Given the description of an element on the screen output the (x, y) to click on. 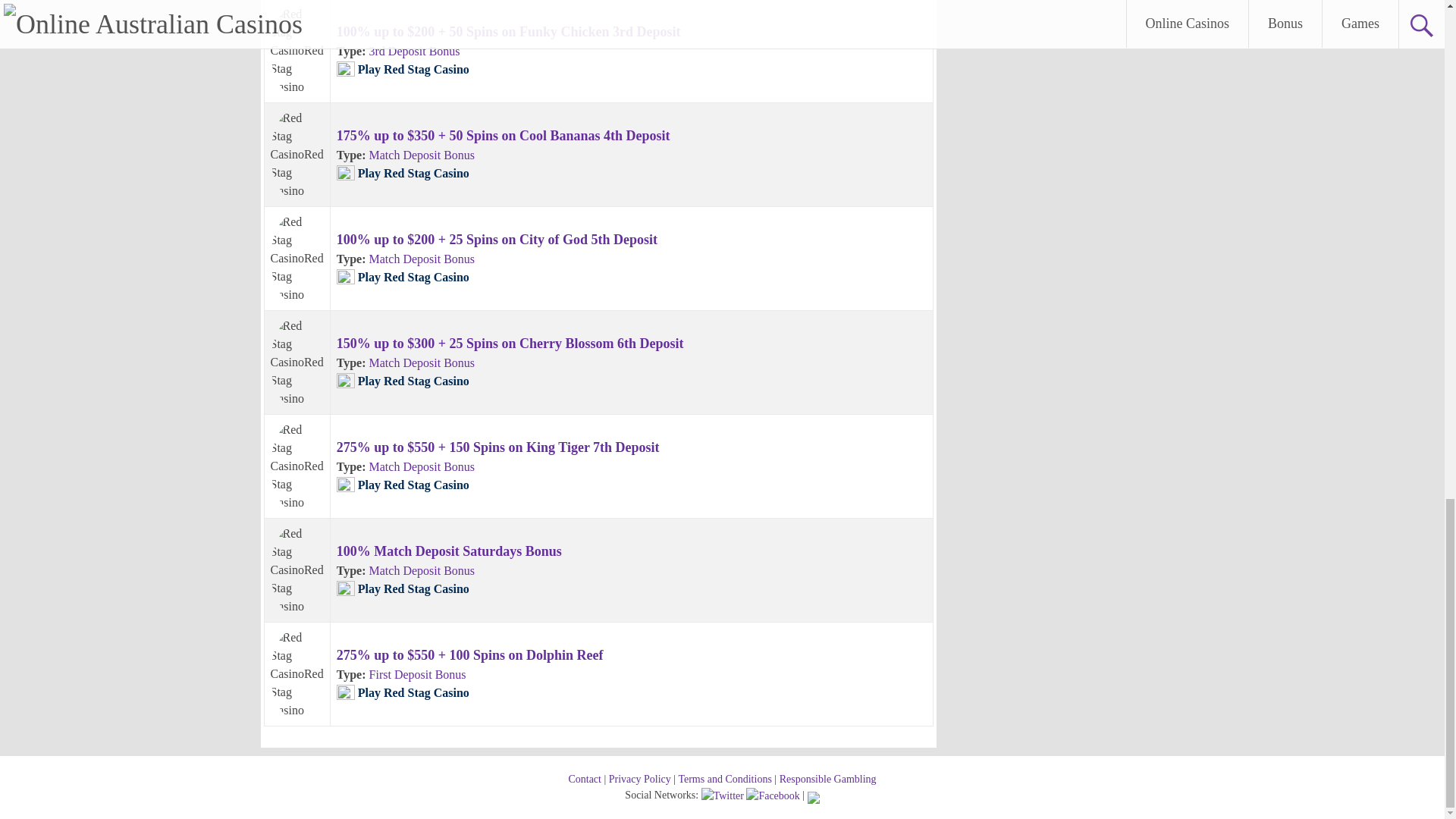
3rd Deposit Bonus (414, 51)
Play Red Stag Casino (413, 69)
Play Red Stag Casino (413, 69)
